Given the description of an element on the screen output the (x, y) to click on. 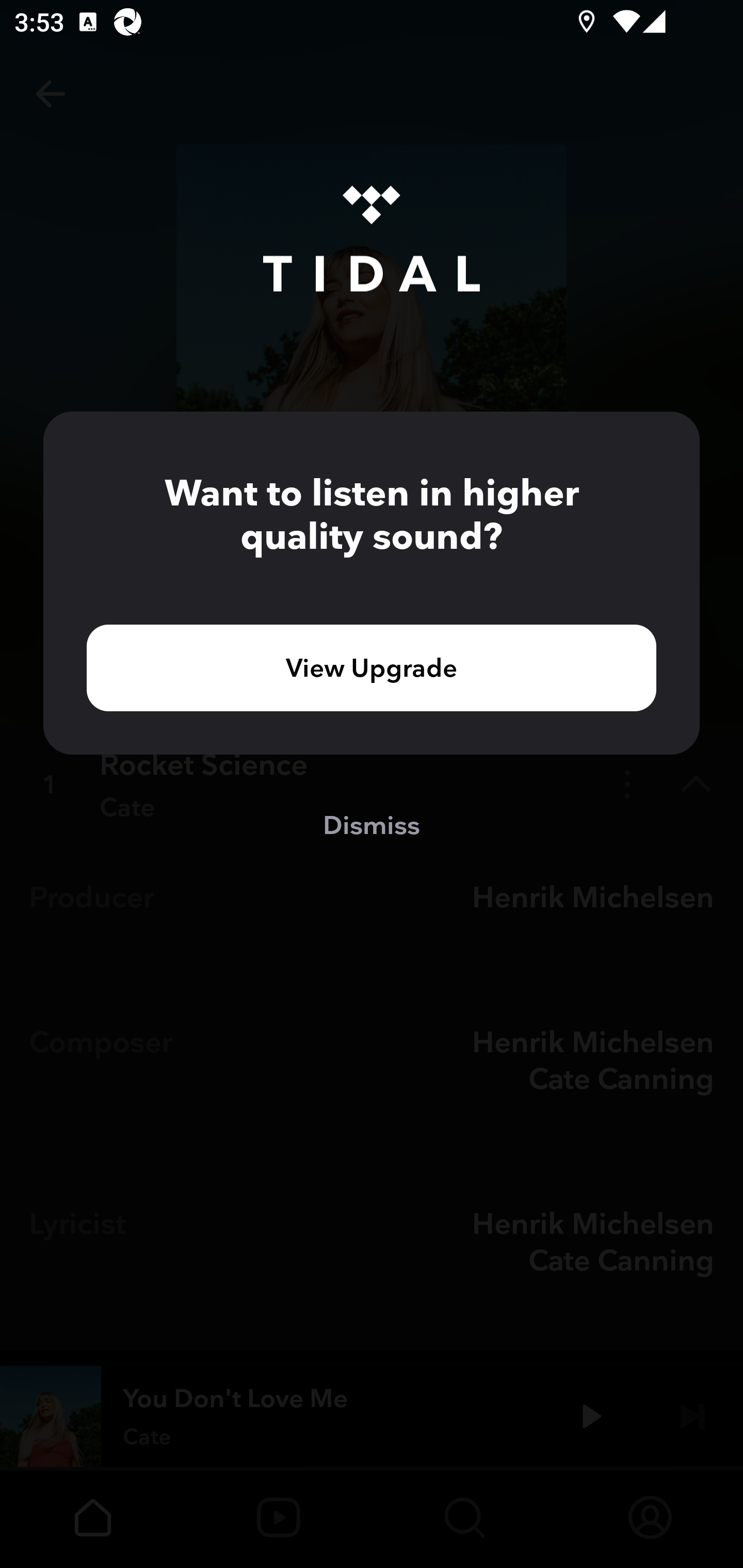
View Upgrade (371, 667)
Dismiss (371, 824)
